Given the description of an element on the screen output the (x, y) to click on. 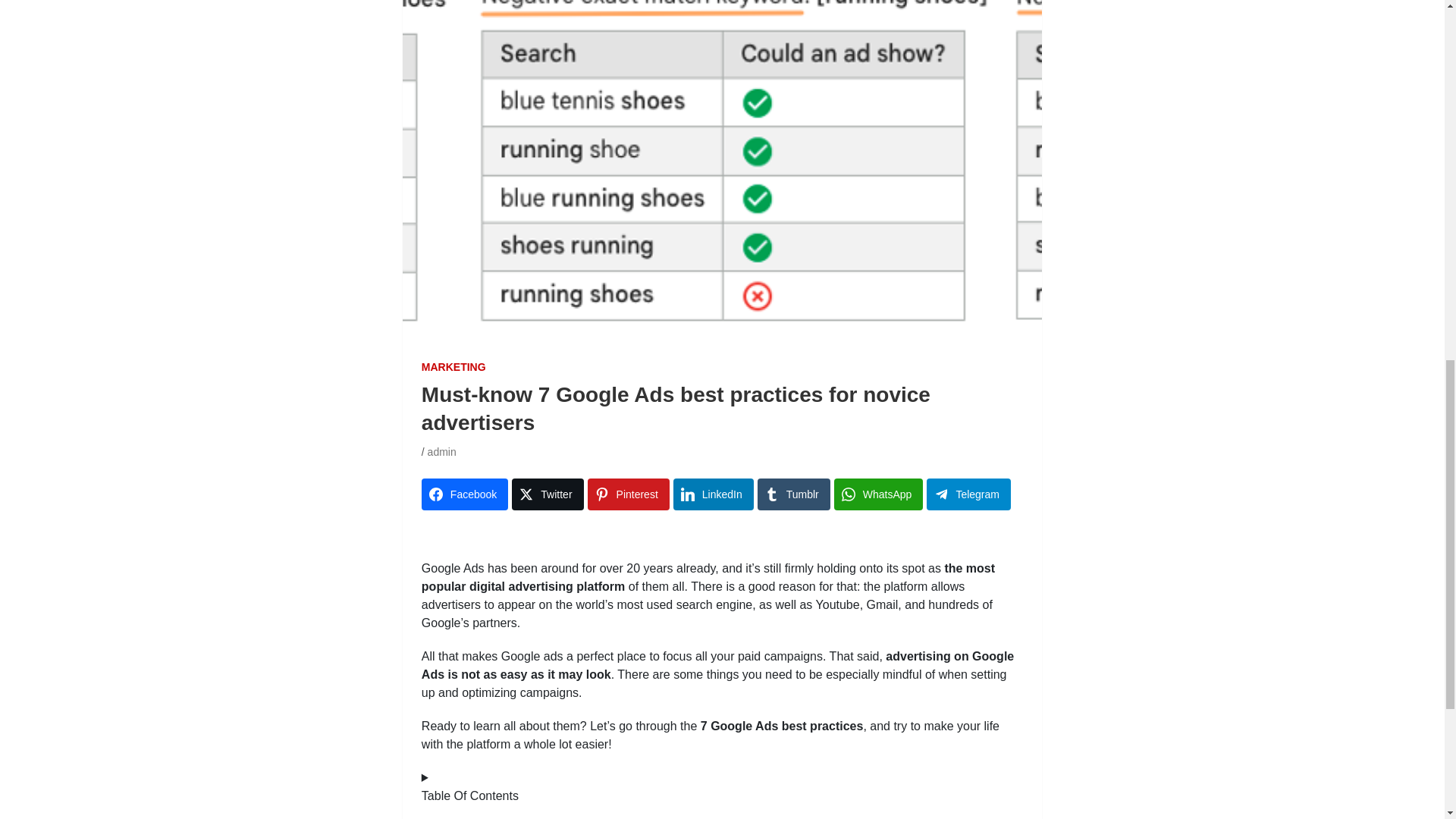
Tumblr (793, 494)
Pinterest (628, 494)
WhatsApp (878, 494)
Share on Tumblr (793, 494)
Twitter (547, 494)
Share on LinkedIn (713, 494)
Share on Telegram (968, 494)
Share on Twitter (547, 494)
Facebook (465, 494)
MARKETING (454, 367)
